Given the description of an element on the screen output the (x, y) to click on. 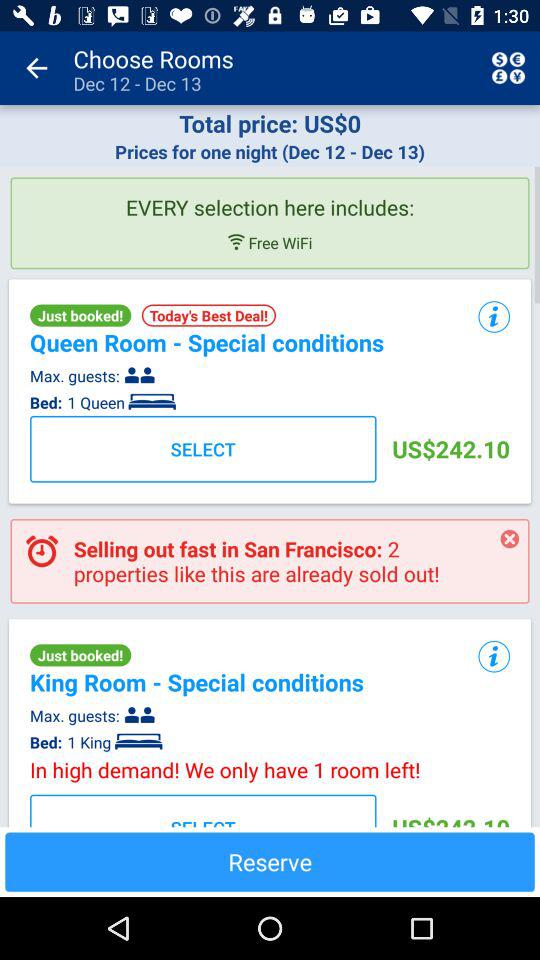
tap icon to the right of the selling out fast app (509, 539)
